Given the description of an element on the screen output the (x, y) to click on. 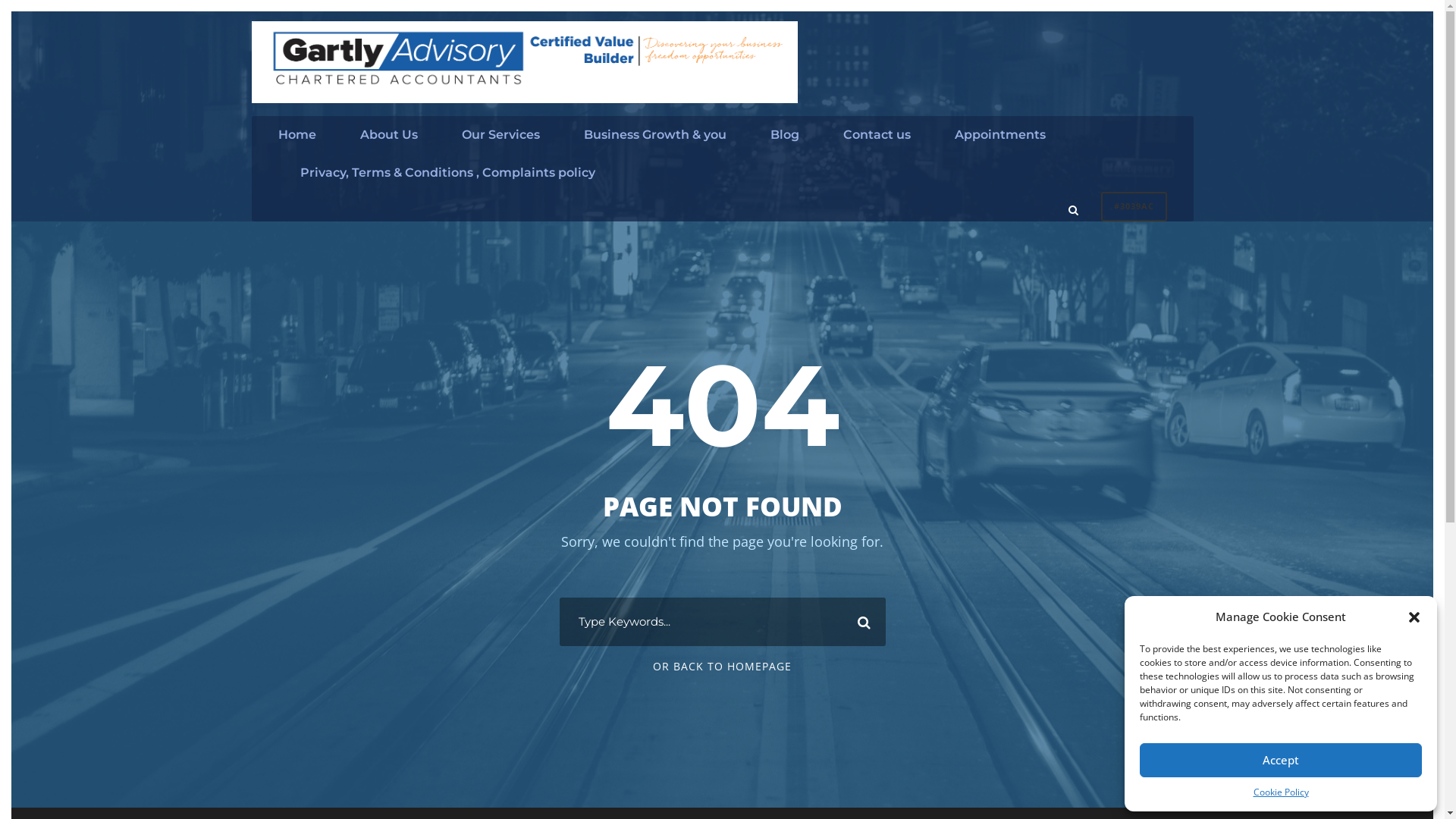
OR BACK TO HOMEPAGE Element type: text (721, 665)
Accept Element type: text (1280, 760)
Privacy, Terms & Conditions , Complaints policy Element type: text (447, 181)
Blog Element type: text (784, 143)
logo GA CVB Element type: hover (524, 62)
Search Element type: text (860, 621)
Cookie Policy Element type: text (1280, 792)
Appointments Element type: text (998, 143)
About Us Element type: text (388, 143)
Home Element type: text (296, 143)
#3039AC Element type: text (1134, 206)
Business Growth & you Element type: text (654, 143)
Contact us Element type: text (876, 143)
Our Services Element type: text (500, 143)
